Given the description of an element on the screen output the (x, y) to click on. 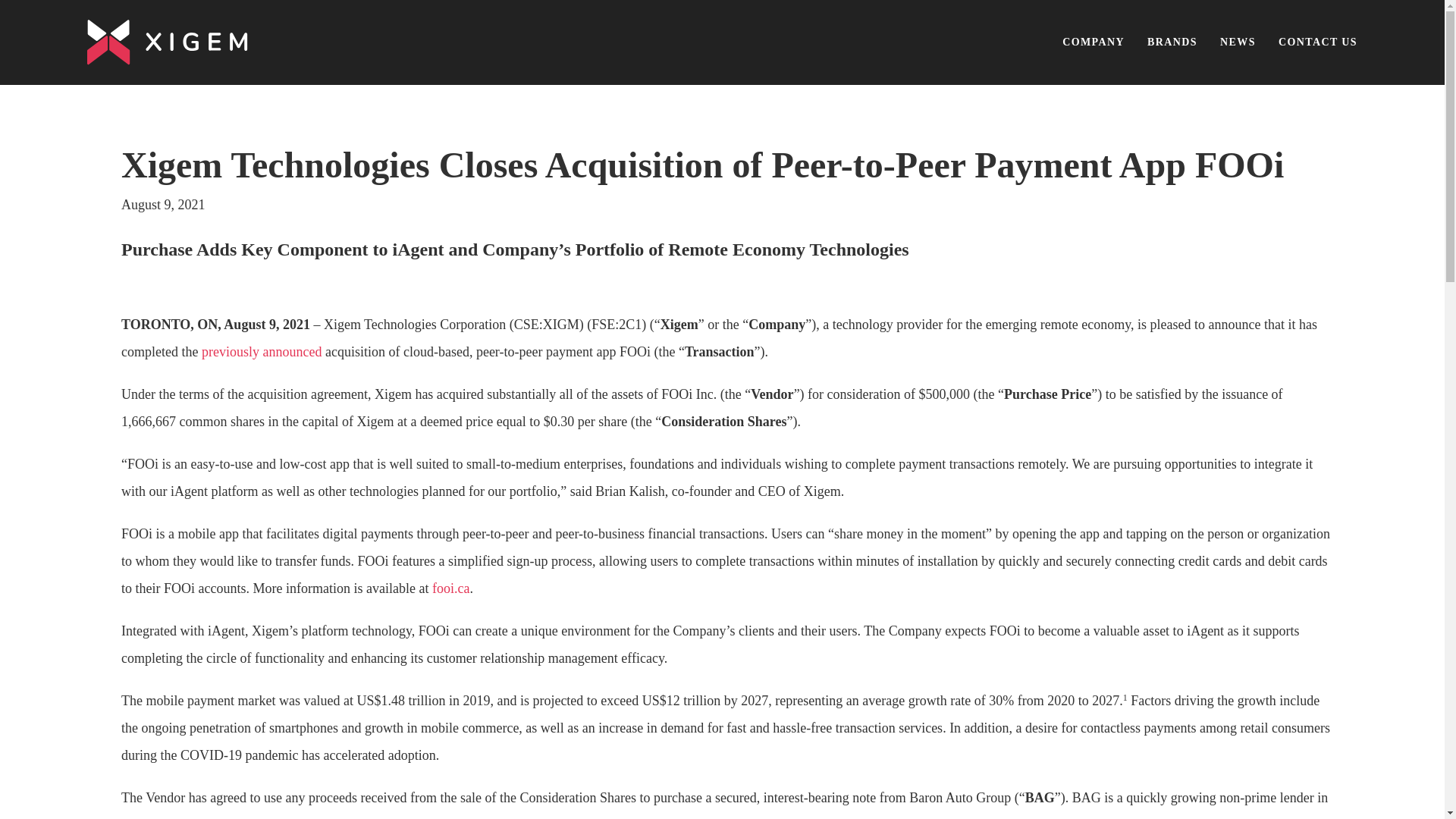
COMPANY (1093, 42)
fooi.ca (450, 588)
NEWS (1237, 42)
CONTACT US (1317, 42)
BRANDS (1171, 42)
previously announced (261, 351)
